Given the description of an element on the screen output the (x, y) to click on. 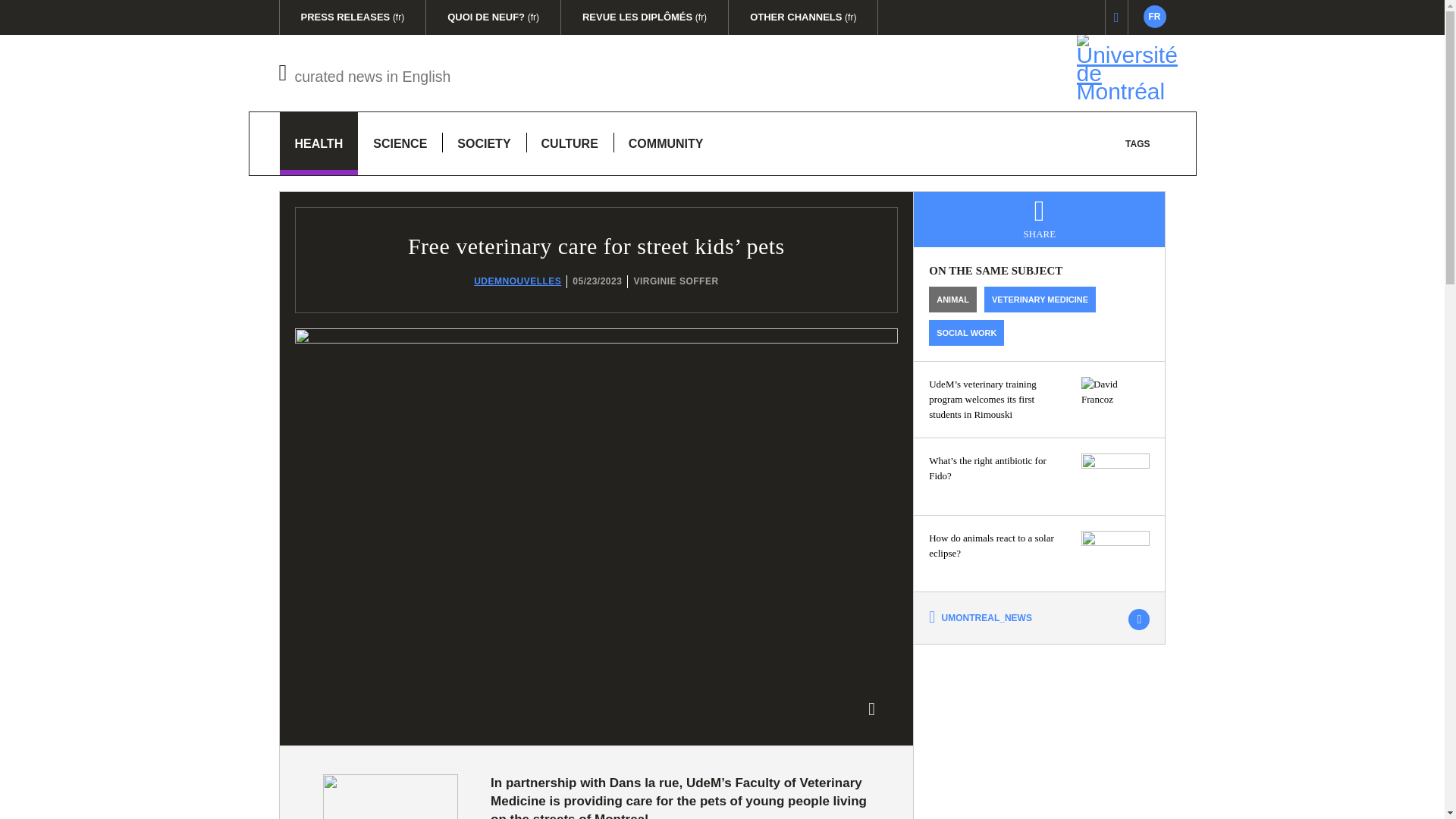
SOCIETY (483, 143)
CULTURE (365, 72)
TAGS (568, 143)
In 5 seconds (1137, 143)
HEALTH (390, 796)
FR (318, 143)
David Francoz (1154, 15)
SCIENCE (1115, 399)
